Given the description of an element on the screen output the (x, y) to click on. 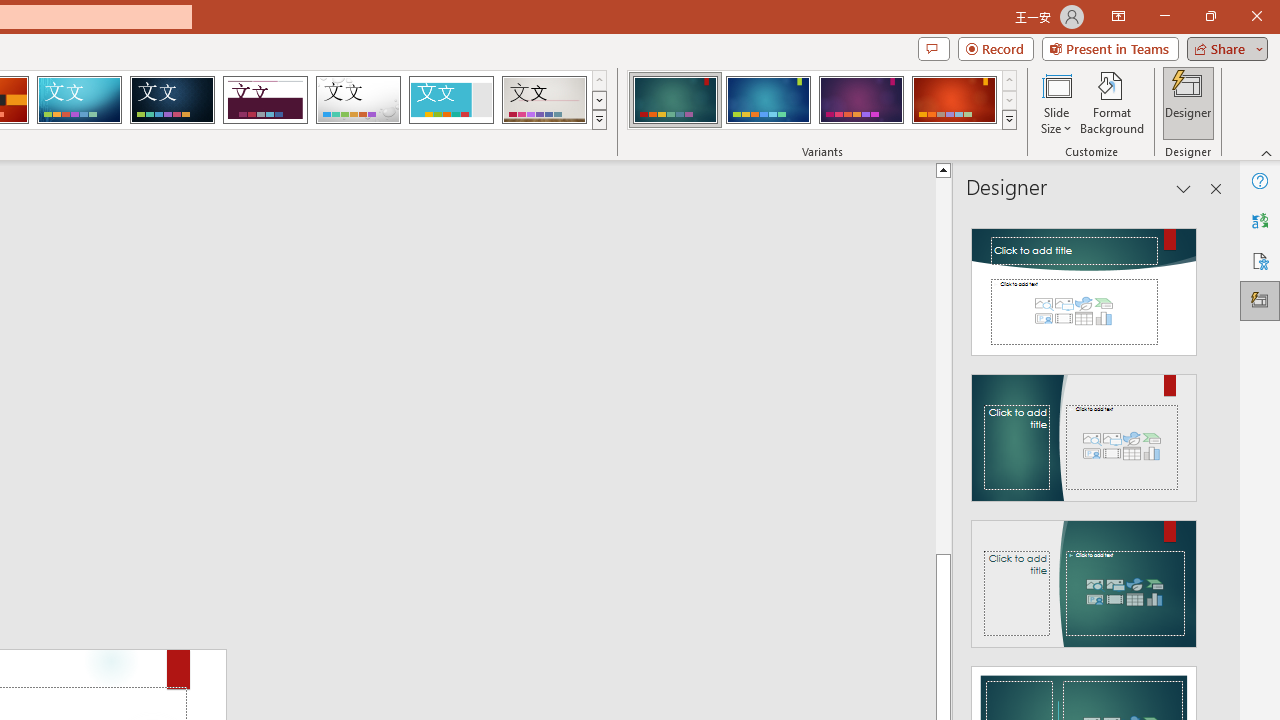
Droplet (358, 100)
Ion Variant 1 (674, 100)
Gallery (544, 100)
Frame (450, 100)
